Given the description of an element on the screen output the (x, y) to click on. 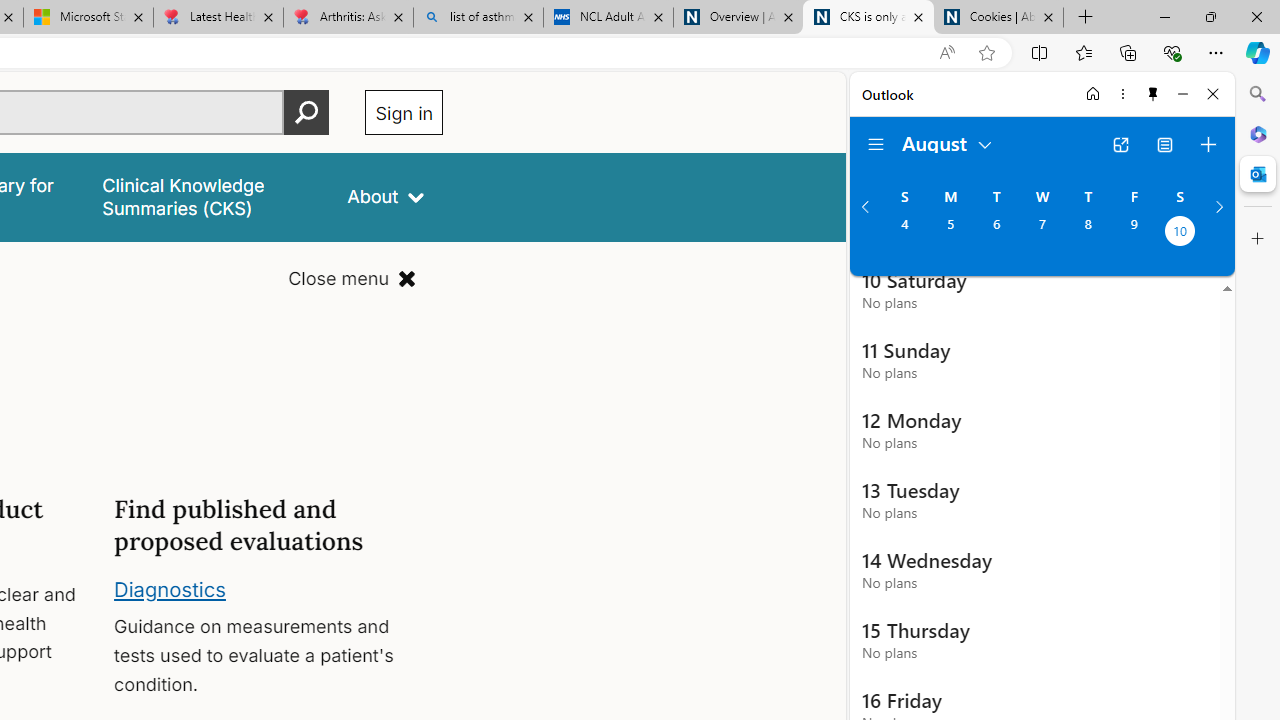
Create event (1208, 144)
false (207, 196)
Friday, August 9, 2024.  (1134, 233)
Tuesday, August 6, 2024.  (996, 233)
Cookies | About | NICE (998, 17)
list of asthma inhalers uk - Search (477, 17)
Thursday, August 8, 2024.  (1088, 233)
Sunday, August 4, 2024.  (904, 233)
Saturday, August 10, 2024. Date selected.  (1180, 233)
